Given the description of an element on the screen output the (x, y) to click on. 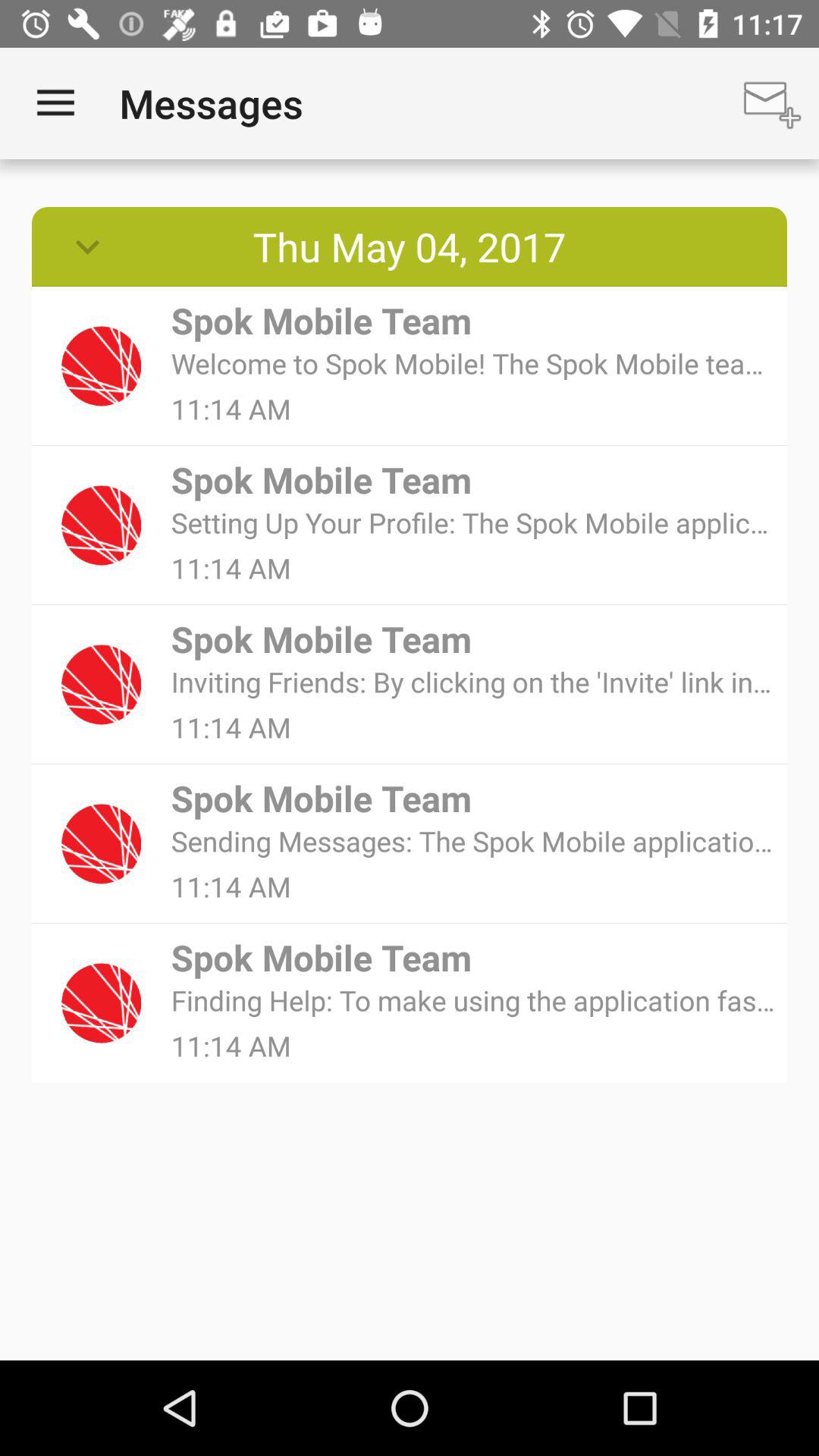
press icon above 11:14 am icon (473, 1000)
